Given the description of an element on the screen output the (x, y) to click on. 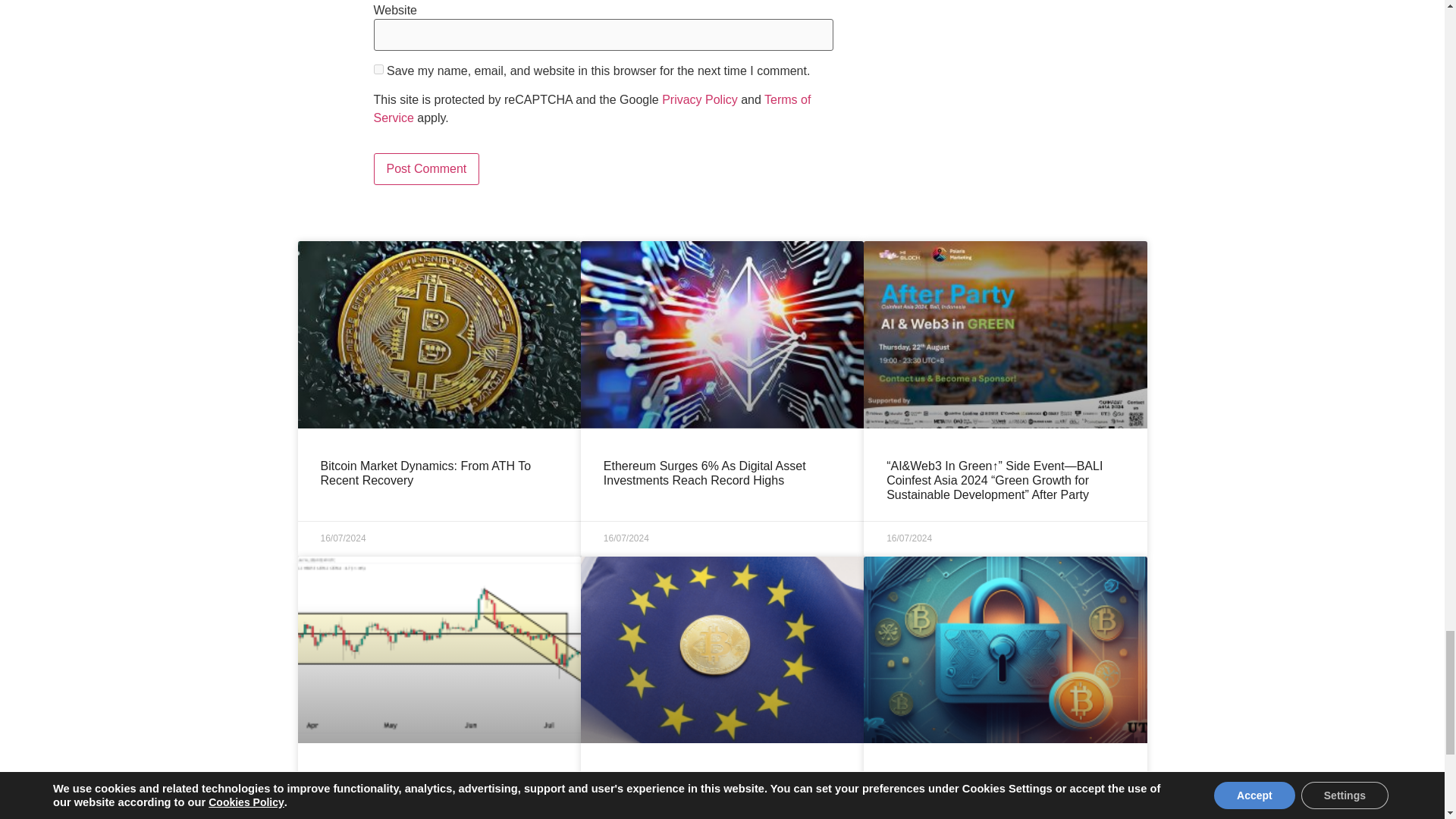
yes (377, 69)
Terms of Service (591, 108)
Privacy Policy (700, 99)
Bitcoin Market Dynamics: From ATH To Recent Recovery (425, 472)
Post Comment (425, 169)
Post Comment (425, 169)
